Given the description of an element on the screen output the (x, y) to click on. 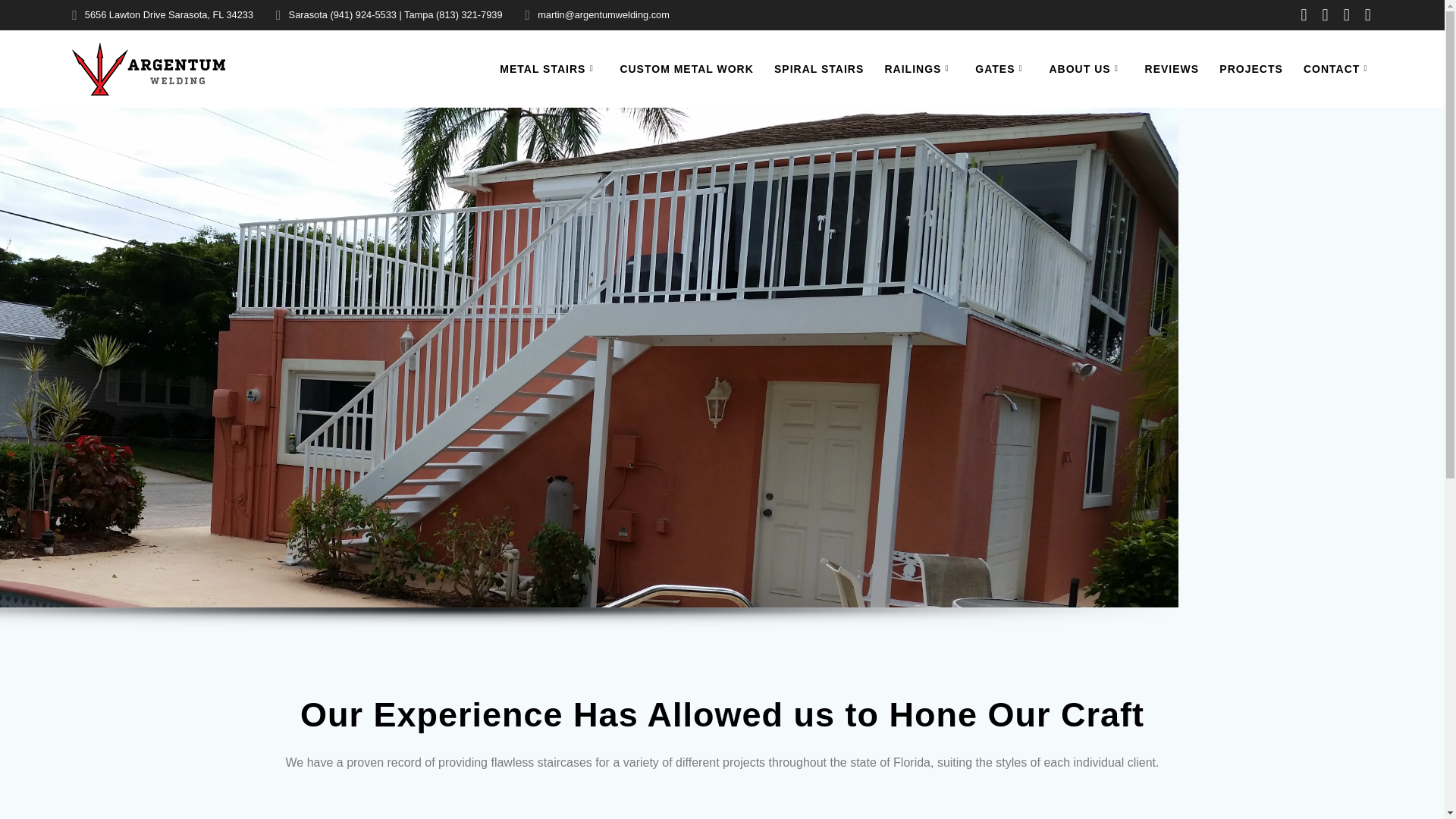
GATES (1001, 68)
REVIEWS (1171, 68)
ABOUT US (1086, 68)
CUSTOM METAL WORK (686, 68)
SPIRAL STAIRS (818, 68)
RAILINGS (919, 68)
PROJECTS (1251, 68)
CONTACT (1338, 68)
METAL STAIRS (548, 68)
